Given the description of an element on the screen output the (x, y) to click on. 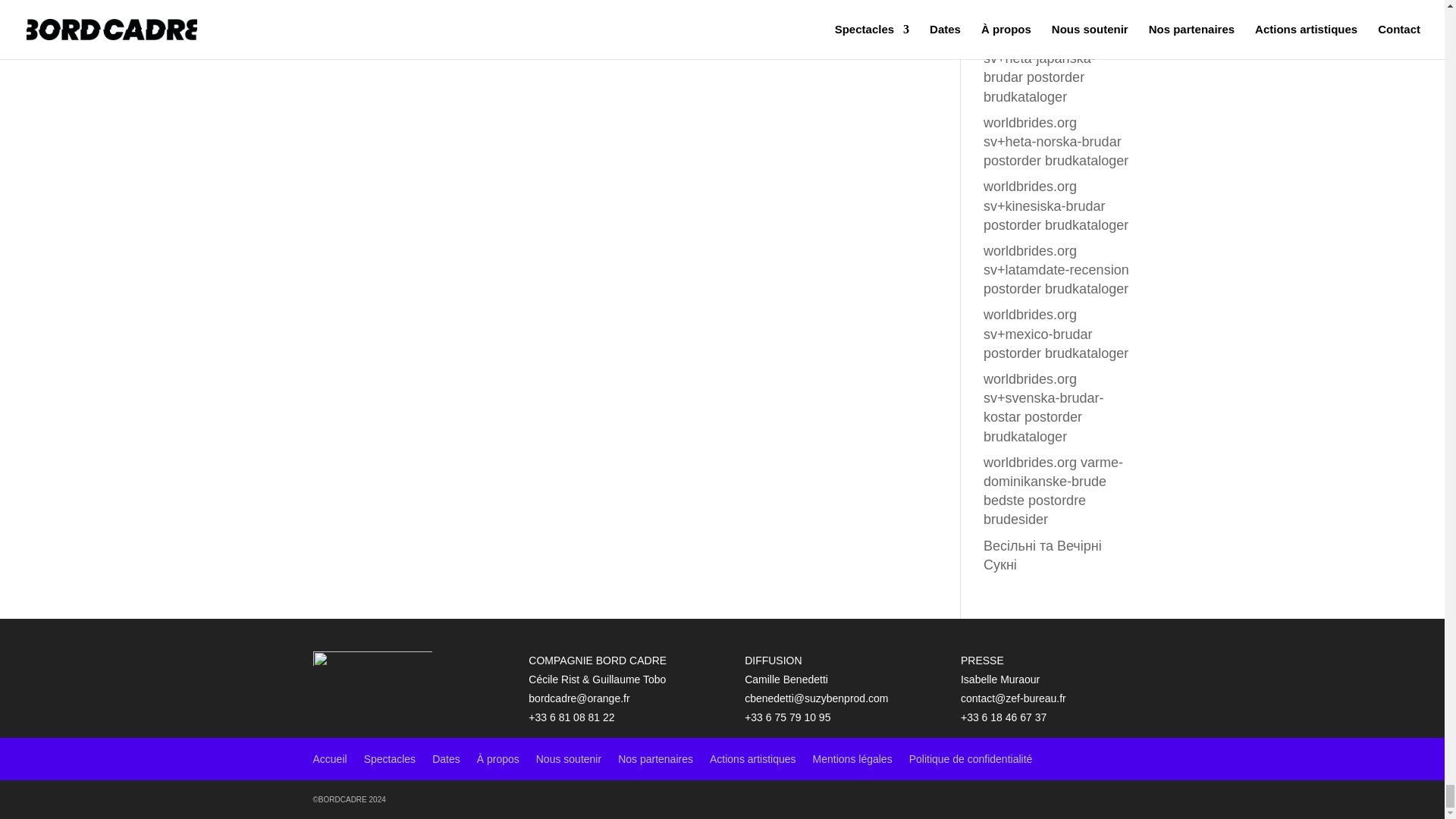
Logo-blanc (372, 658)
